Given the description of an element on the screen output the (x, y) to click on. 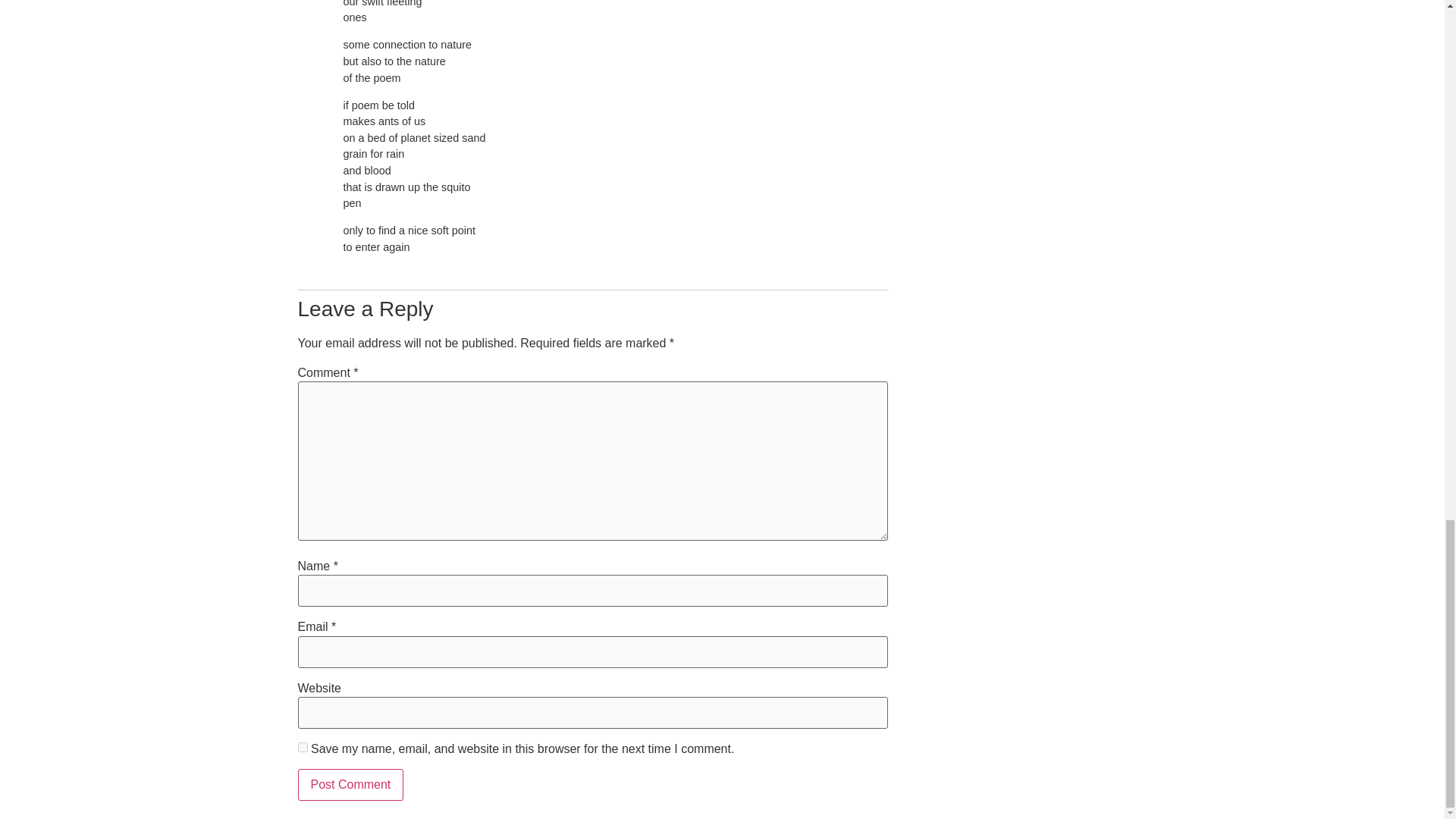
Post Comment (350, 784)
yes (302, 747)
